Given the description of an element on the screen output the (x, y) to click on. 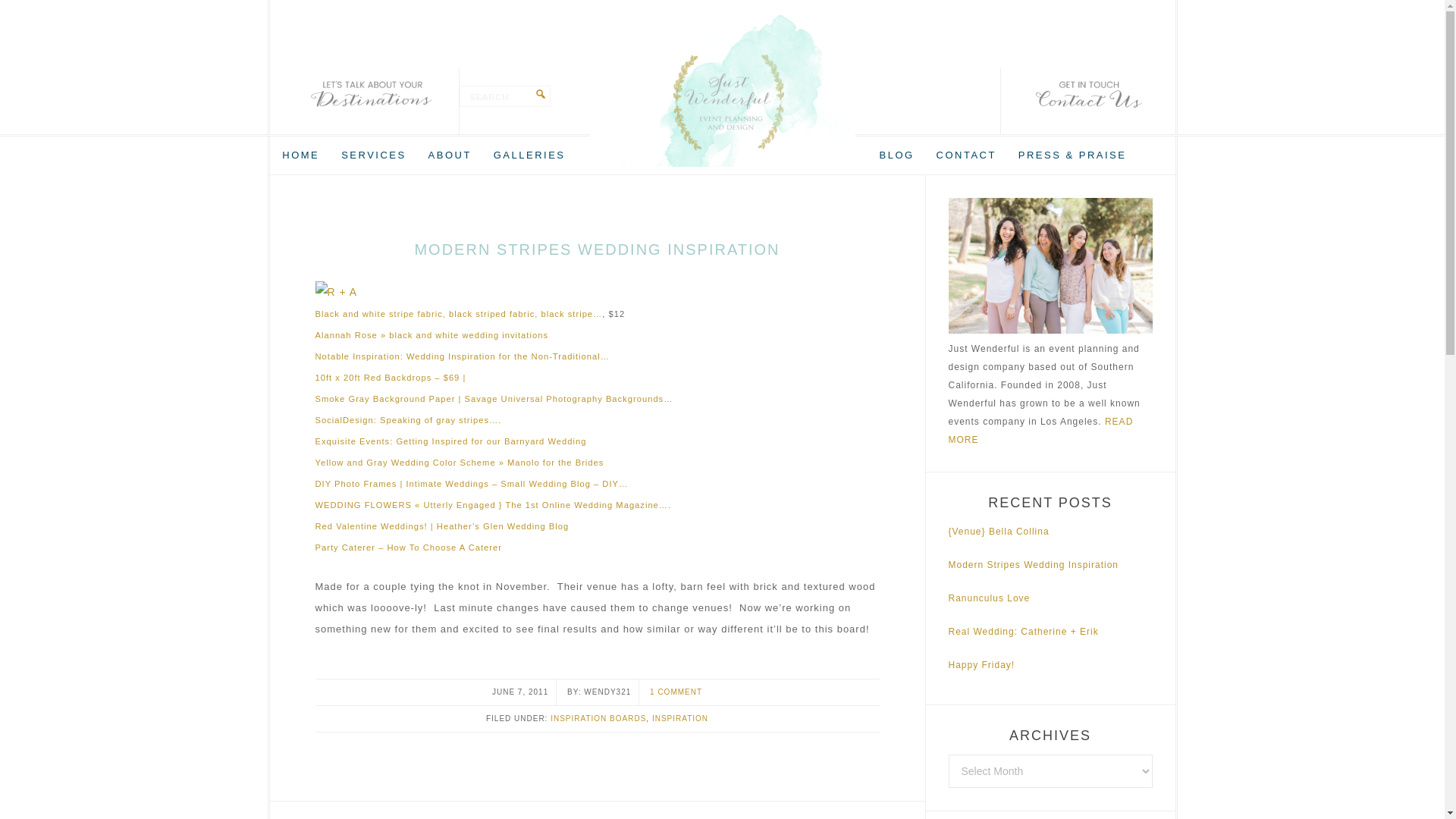
WENDY R (722, 91)
HOME (301, 155)
BLOG (896, 155)
INSPIRATION (679, 718)
GALLERIES (529, 155)
Exquisite Events: Getting Inspired for our Barnyard Wedding (450, 440)
CONTACT (966, 155)
SERVICES (372, 155)
1 COMMENT (675, 691)
INSPIRATION BOARDS (598, 718)
ABOUT (449, 155)
